Given the description of an element on the screen output the (x, y) to click on. 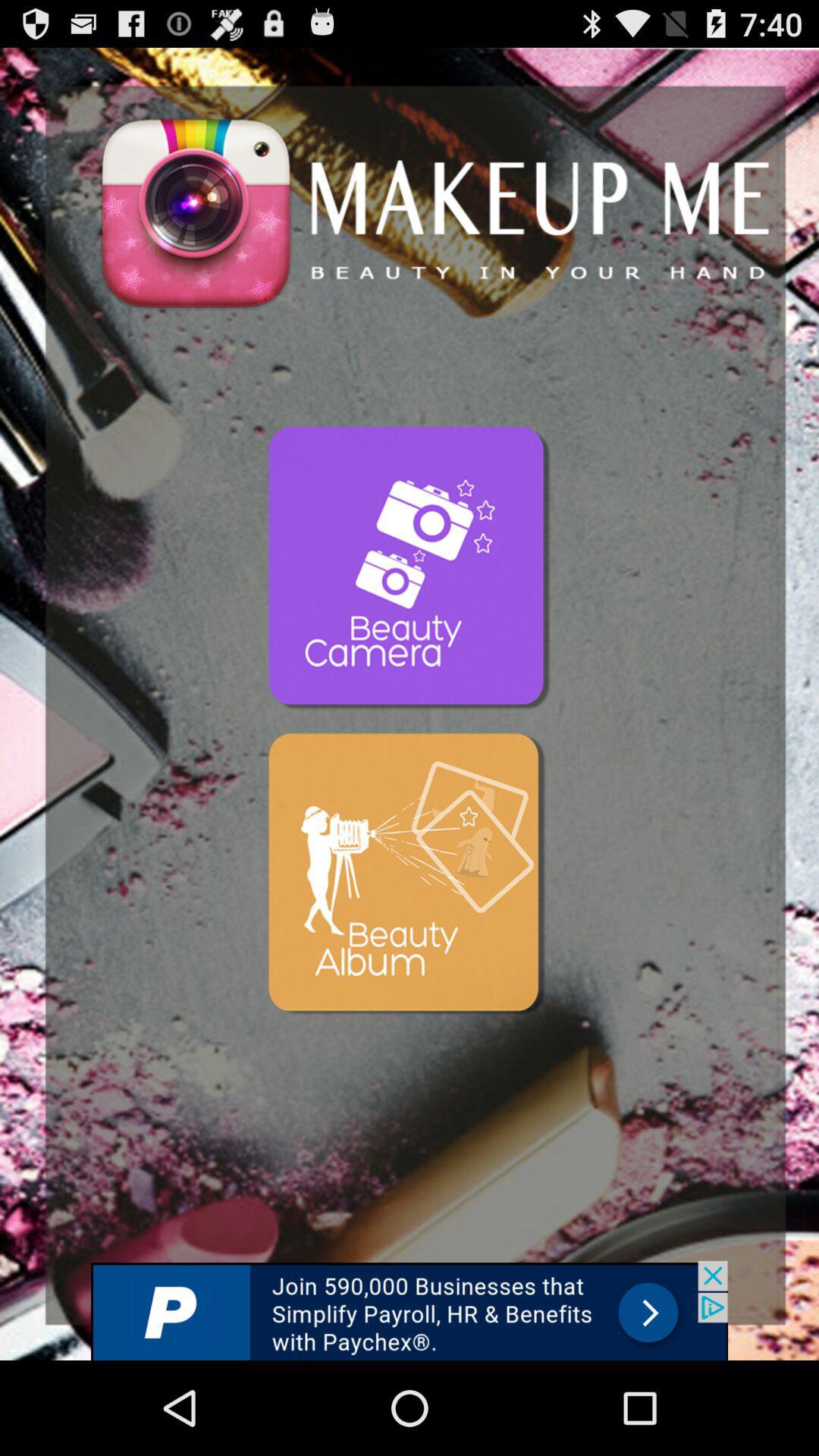
camera optiom (409, 568)
